Given the description of an element on the screen output the (x, y) to click on. 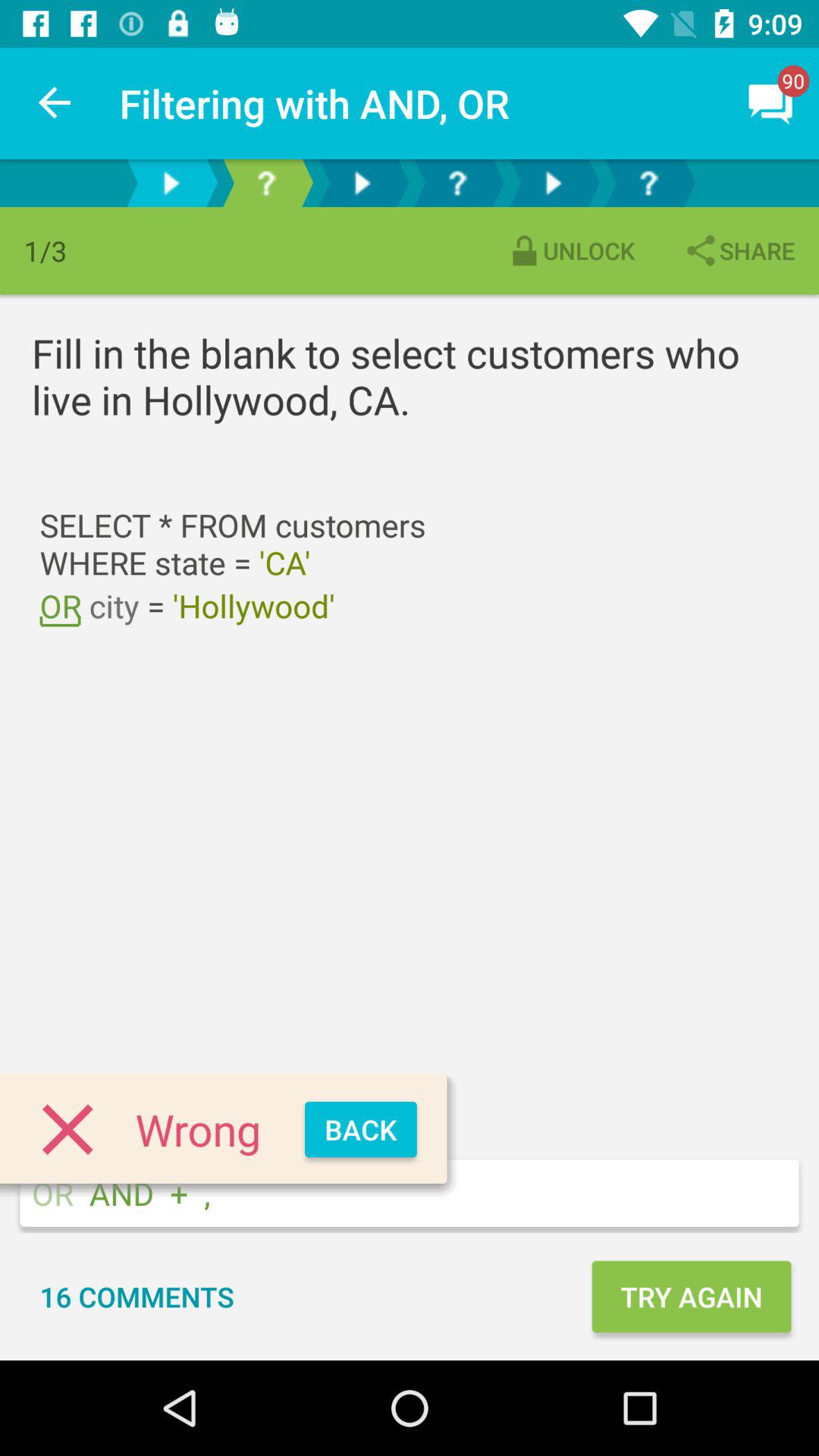
click on question tag button (265, 182)
click on messages icon on the top right corner of the web page (771, 103)
click on the first arrow button at the top of the page (170, 182)
